Given the description of an element on the screen output the (x, y) to click on. 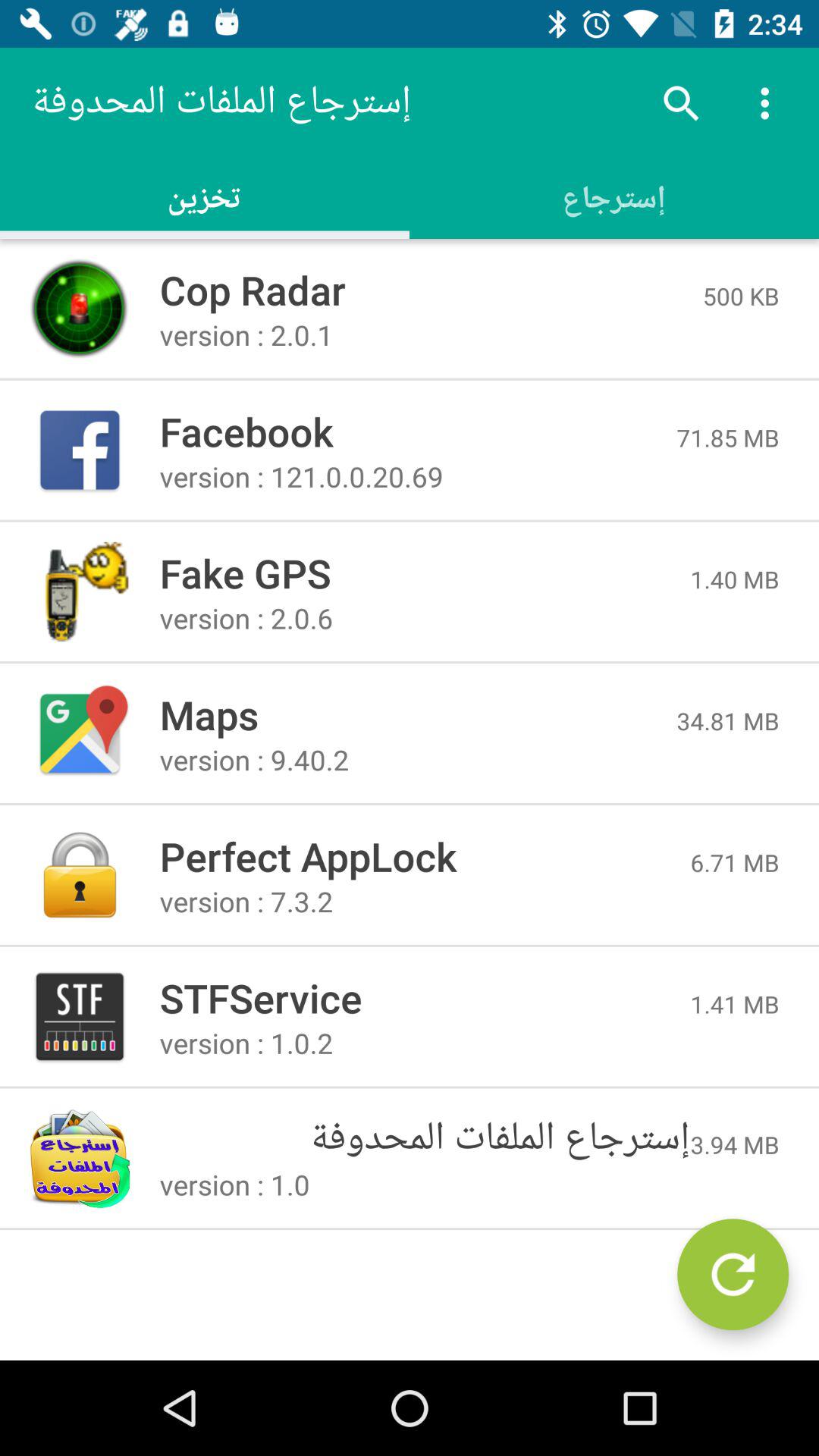
open item below version 2 0 icon (727, 720)
